Given the description of an element on the screen output the (x, y) to click on. 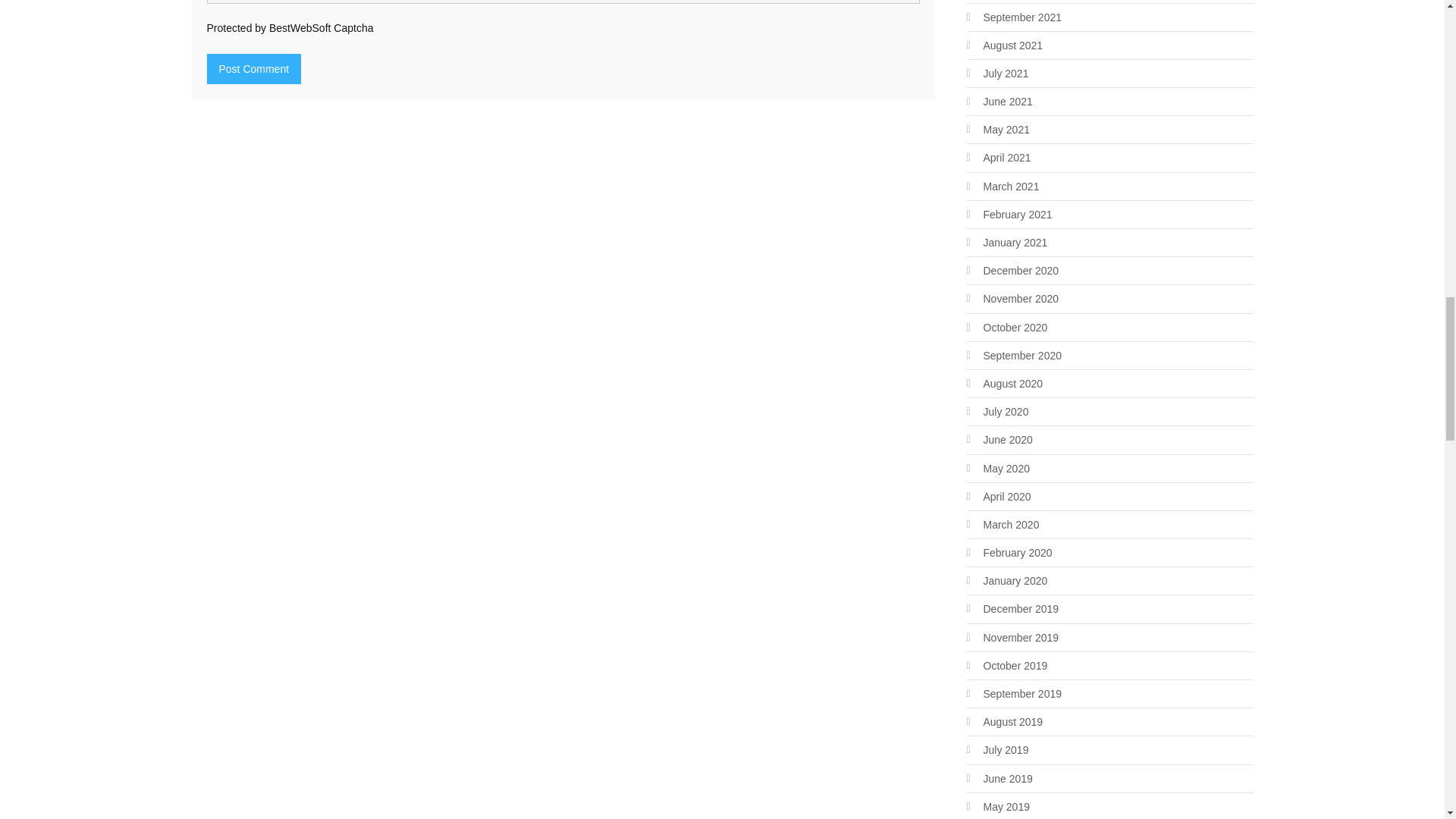
Post Comment (253, 69)
Post Comment (253, 69)
